Given the description of an element on the screen output the (x, y) to click on. 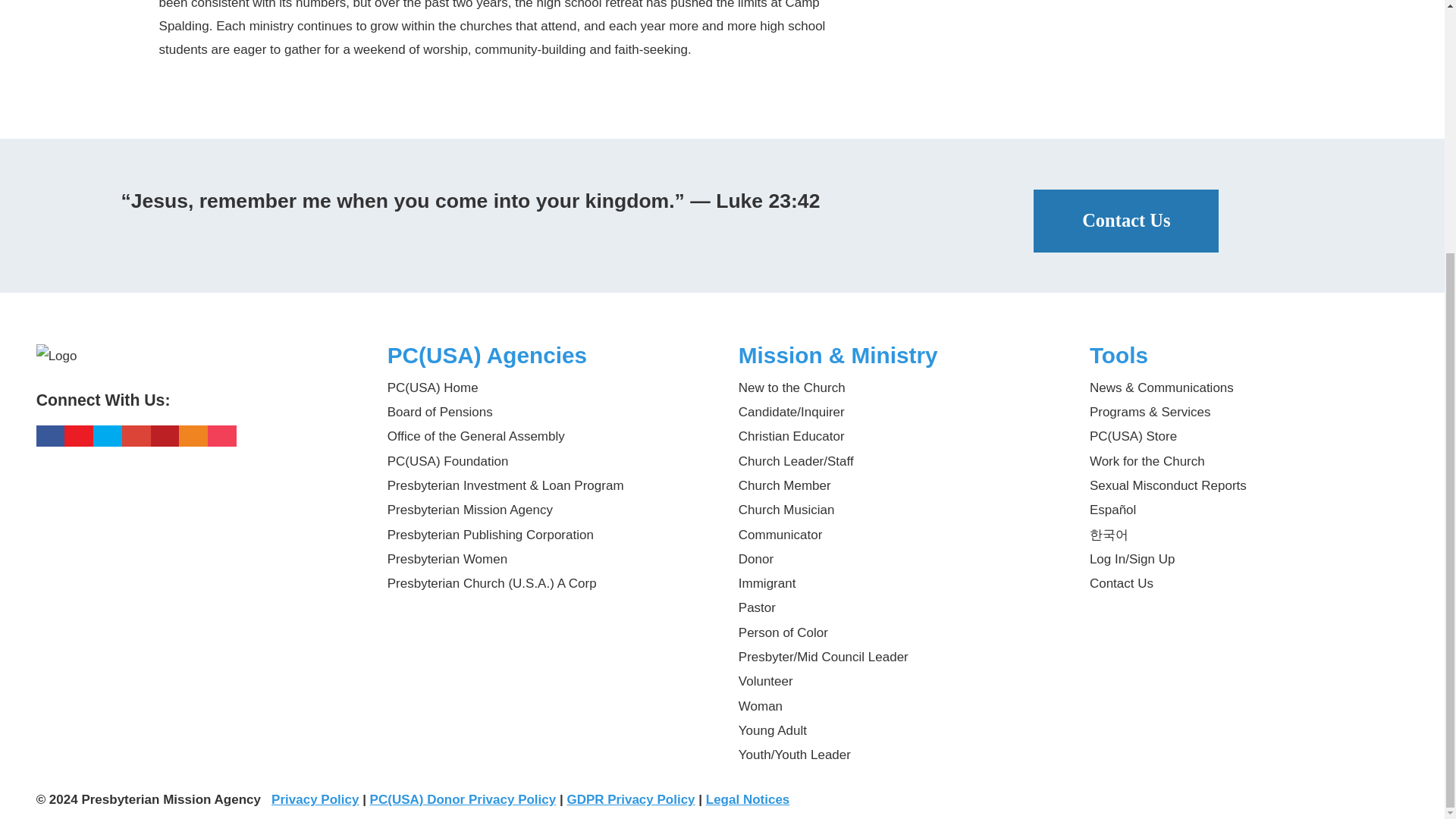
Follow Us on Social Media (195, 411)
